Given the description of an element on the screen output the (x, y) to click on. 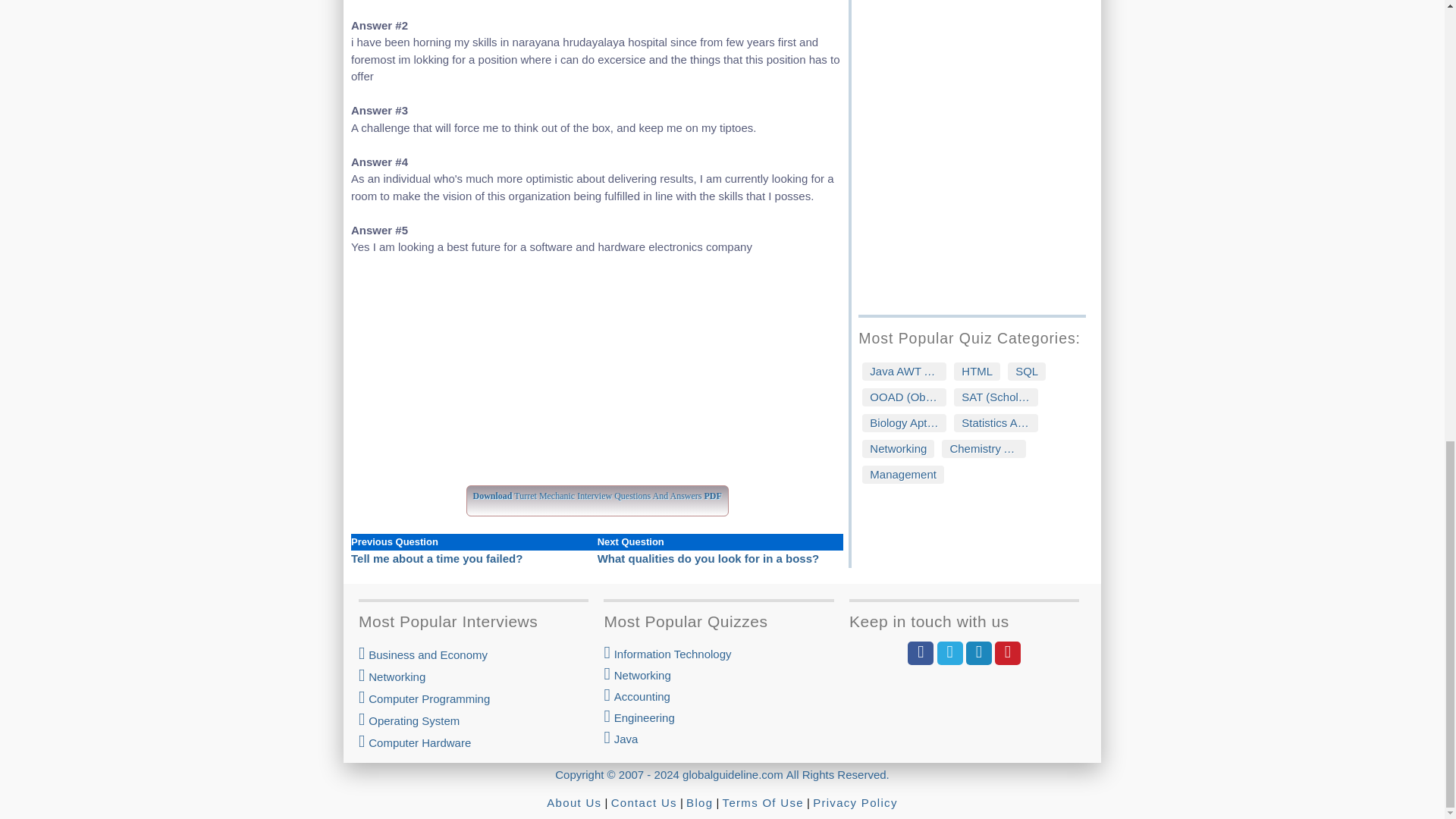
Download Turret Mechanic Interview Questions And Answers PDF (597, 492)
What qualities do you look for in a boss? (707, 558)
Tell me about a time you failed? (436, 558)
Advertisement (596, 378)
